Given the description of an element on the screen output the (x, y) to click on. 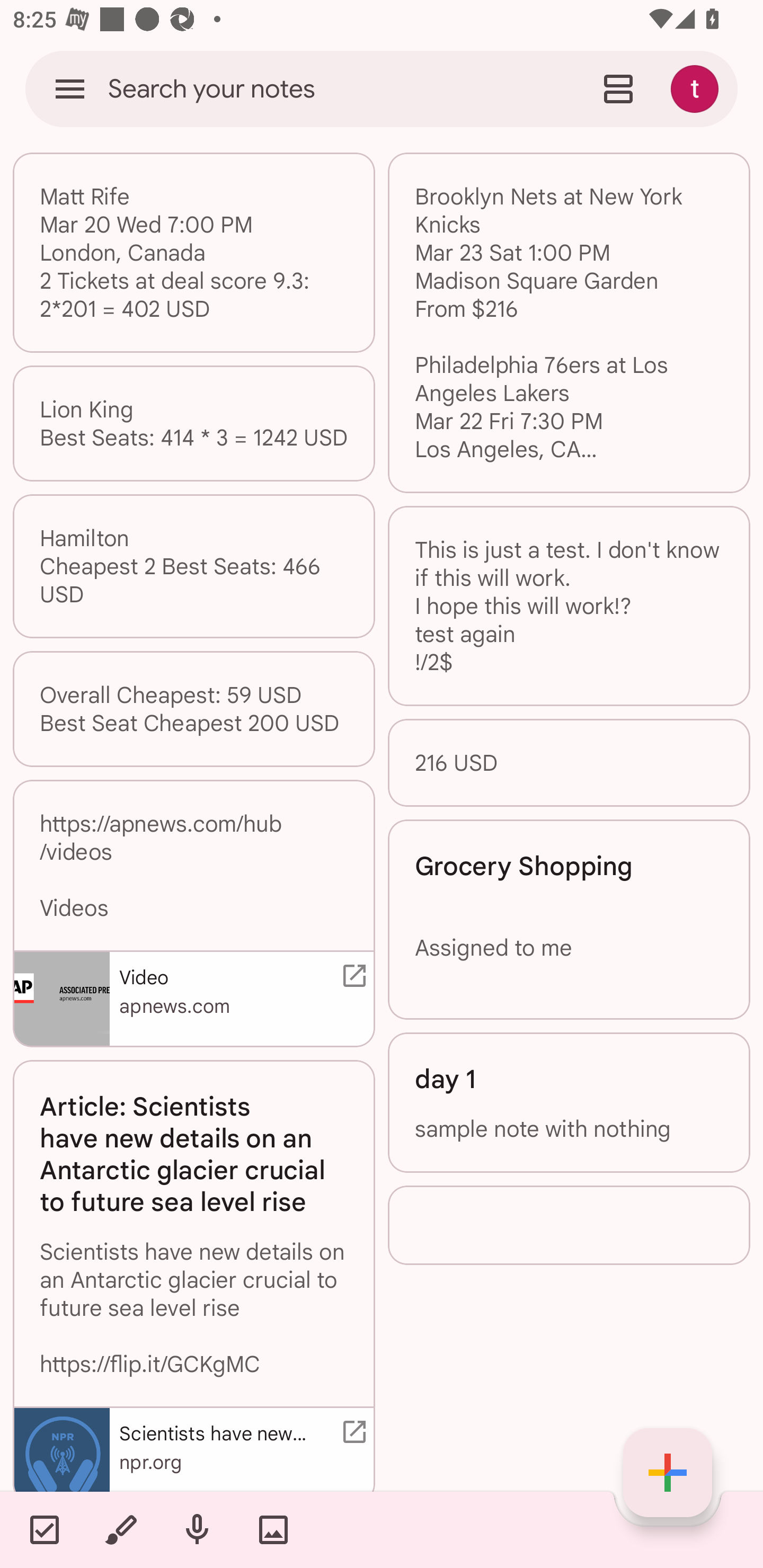
Open navigation drawer (70, 88)
Single-column view (617, 88)
Account and settings. (696, 88)
216 USD.  216 USD (568, 762)
Link preview popout (350, 975)
.  (568, 1225)
Link preview popout (350, 1431)
New text note (667, 1472)
New list (44, 1529)
New drawing note (120, 1529)
New audio note (196, 1529)
New photo note (273, 1529)
